Given the description of an element on the screen output the (x, y) to click on. 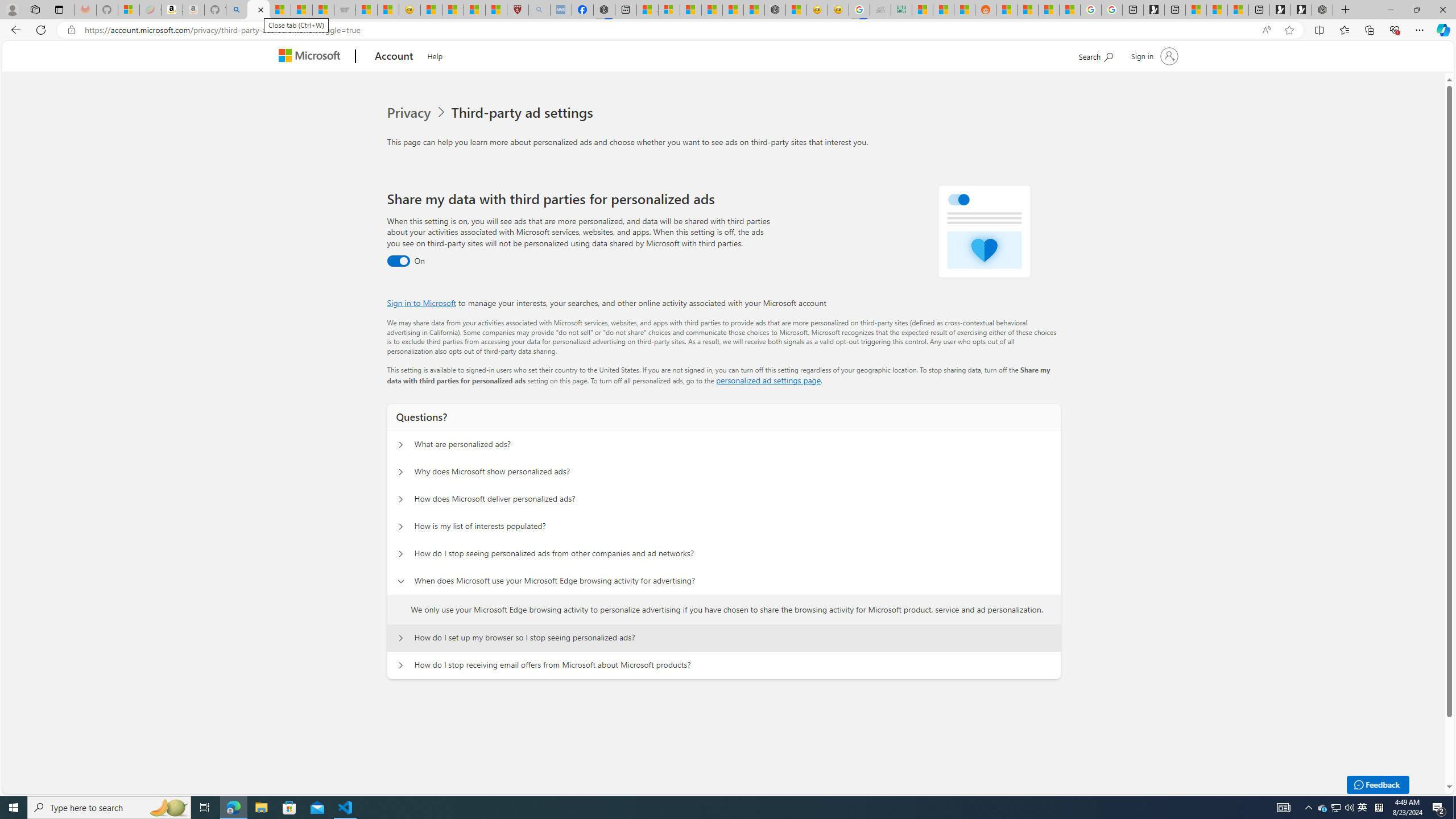
Nordace - #1 Japanese Best-Seller - Siena Smart Backpack (775, 9)
Sign in to your account (1153, 55)
Questions? How does Microsoft deliver personalized ads? (401, 499)
Questions? How is my list of interests populated? (401, 526)
